Given the description of an element on the screen output the (x, y) to click on. 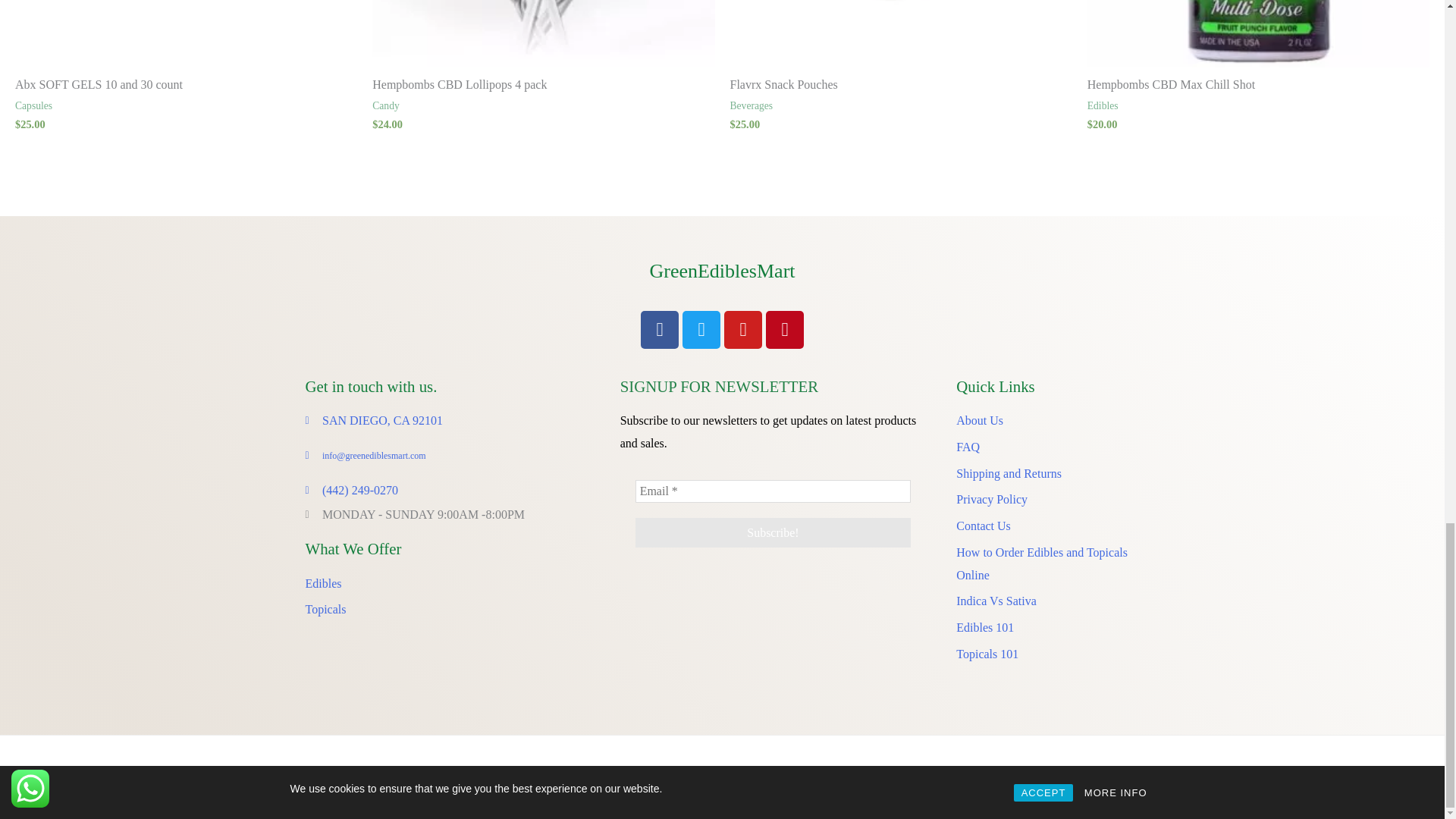
Email (772, 490)
Subscribe! (772, 532)
